Given the description of an element on the screen output the (x, y) to click on. 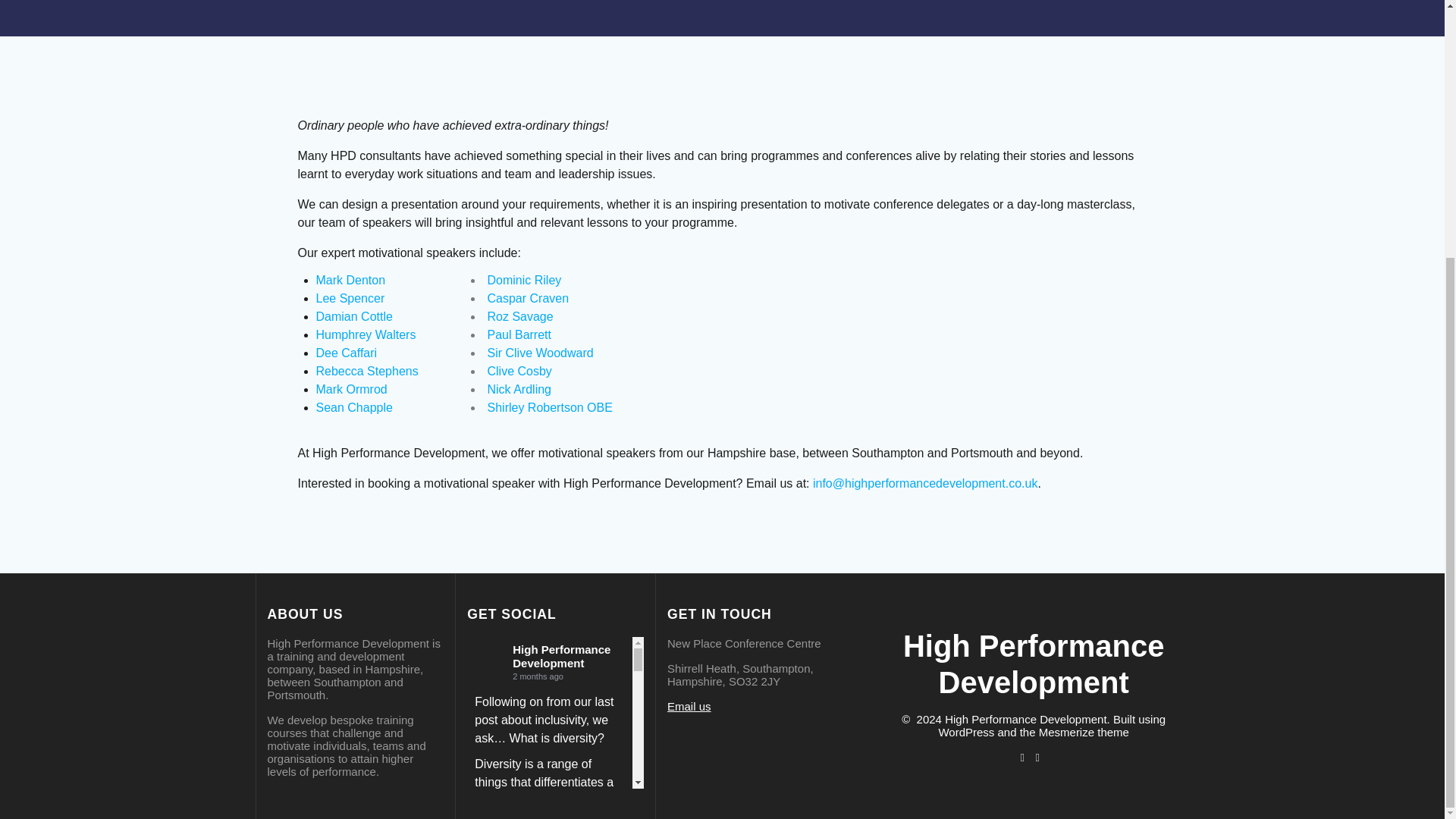
Humphrey Walters (364, 334)
Caspar Craven (527, 297)
Mark Ormrod (351, 389)
Dominic Riley (523, 279)
Damian Cottle (353, 316)
Lee Spencer (349, 297)
Mark Denton (350, 279)
Rebecca Stephens (366, 370)
Dee Caffari (346, 352)
Sean Chapple (353, 407)
